Given the description of an element on the screen output the (x, y) to click on. 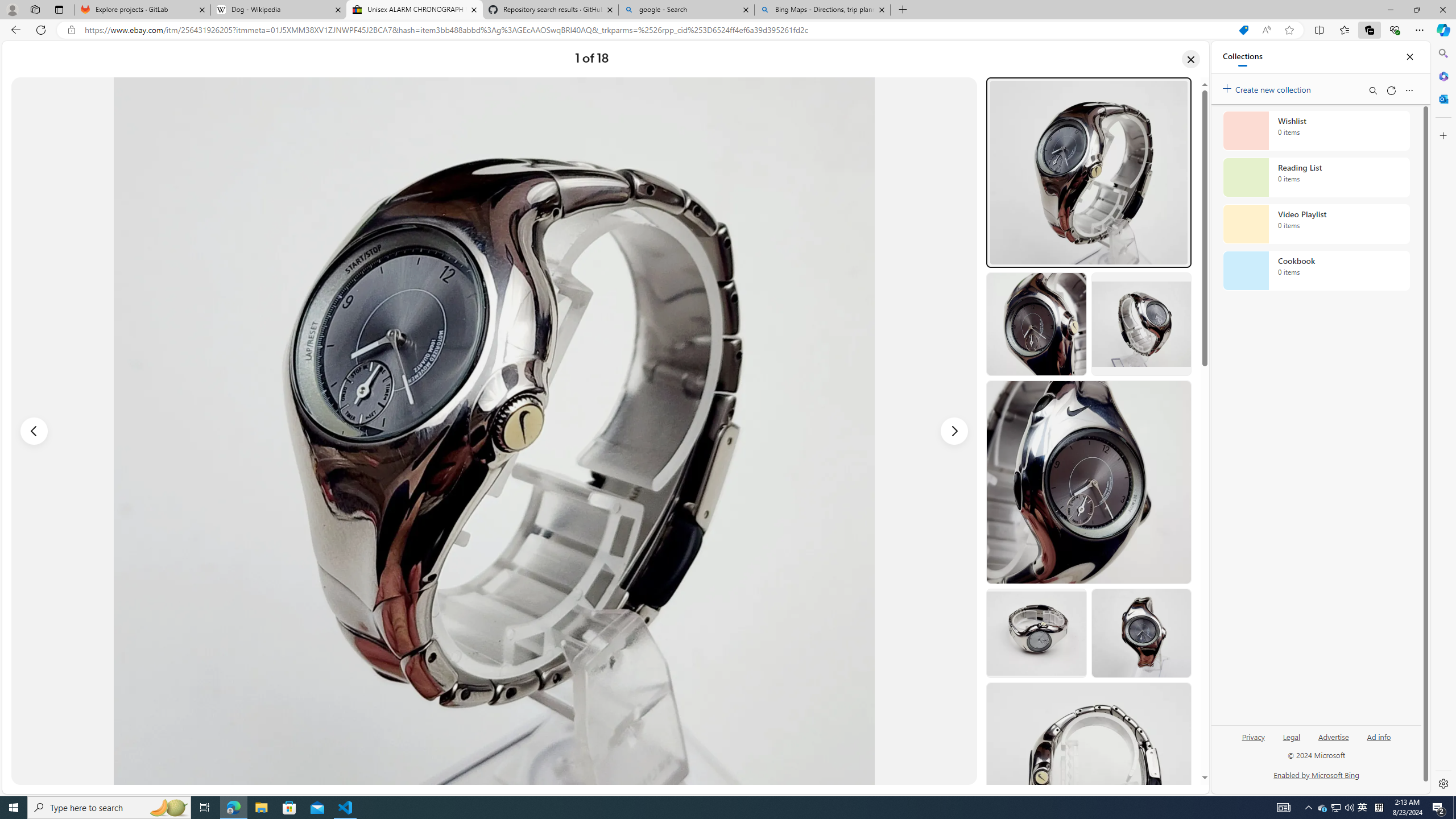
Dog - Wikipedia (277, 9)
